Given the description of an element on the screen output the (x, y) to click on. 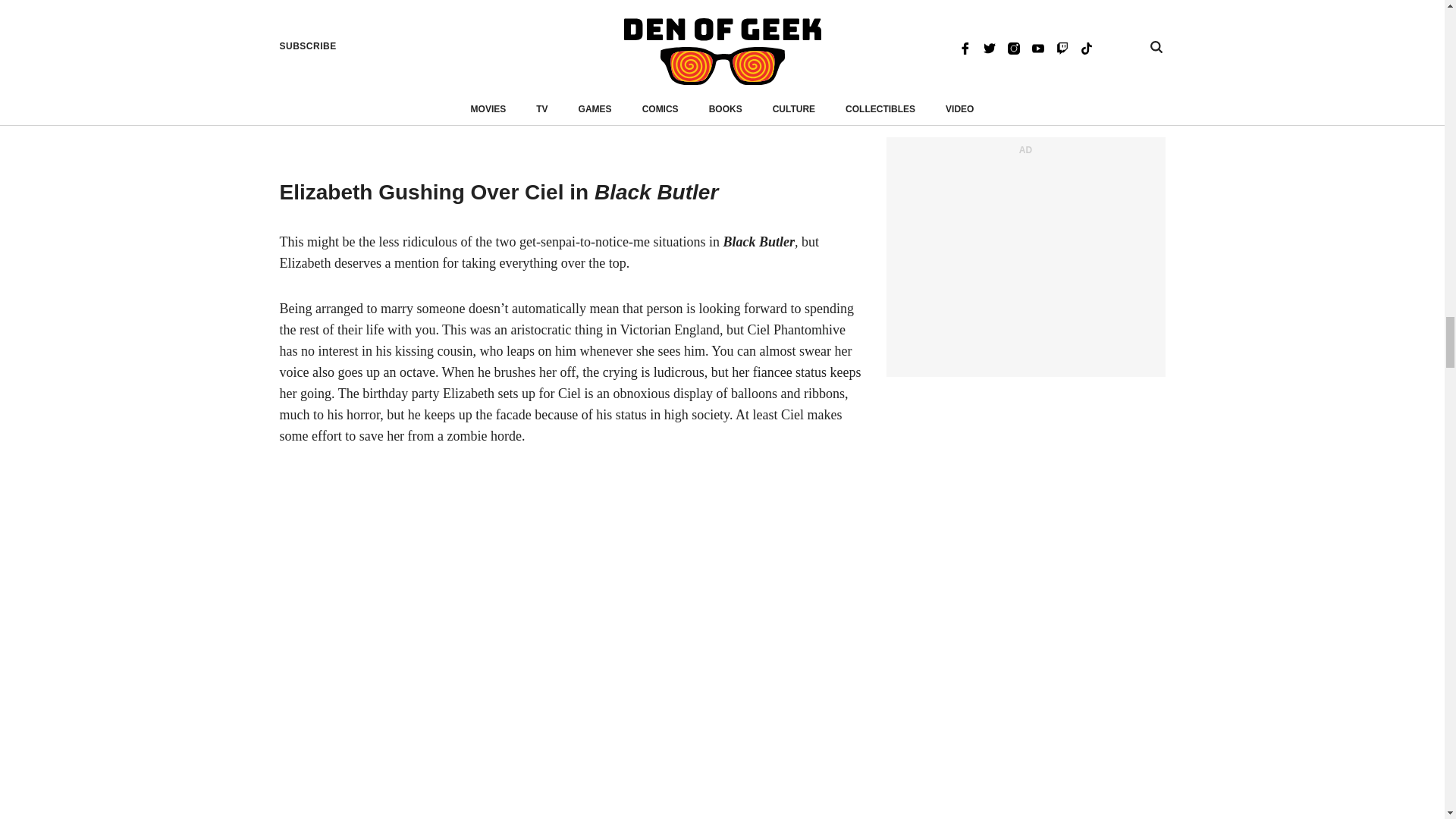
Elizabeth and Ciel (570, 76)
